Given the description of an element on the screen output the (x, y) to click on. 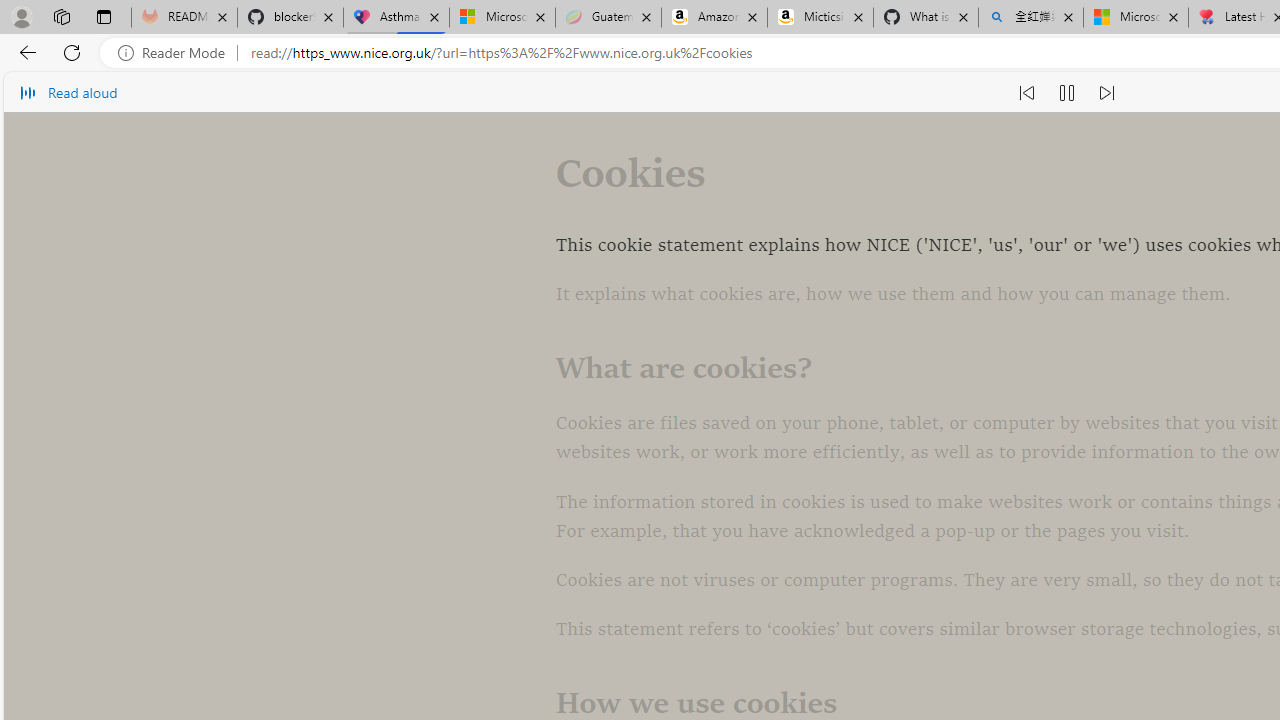
Asthma Inhalers: Names and Types (396, 17)
